Given the description of an element on the screen output the (x, y) to click on. 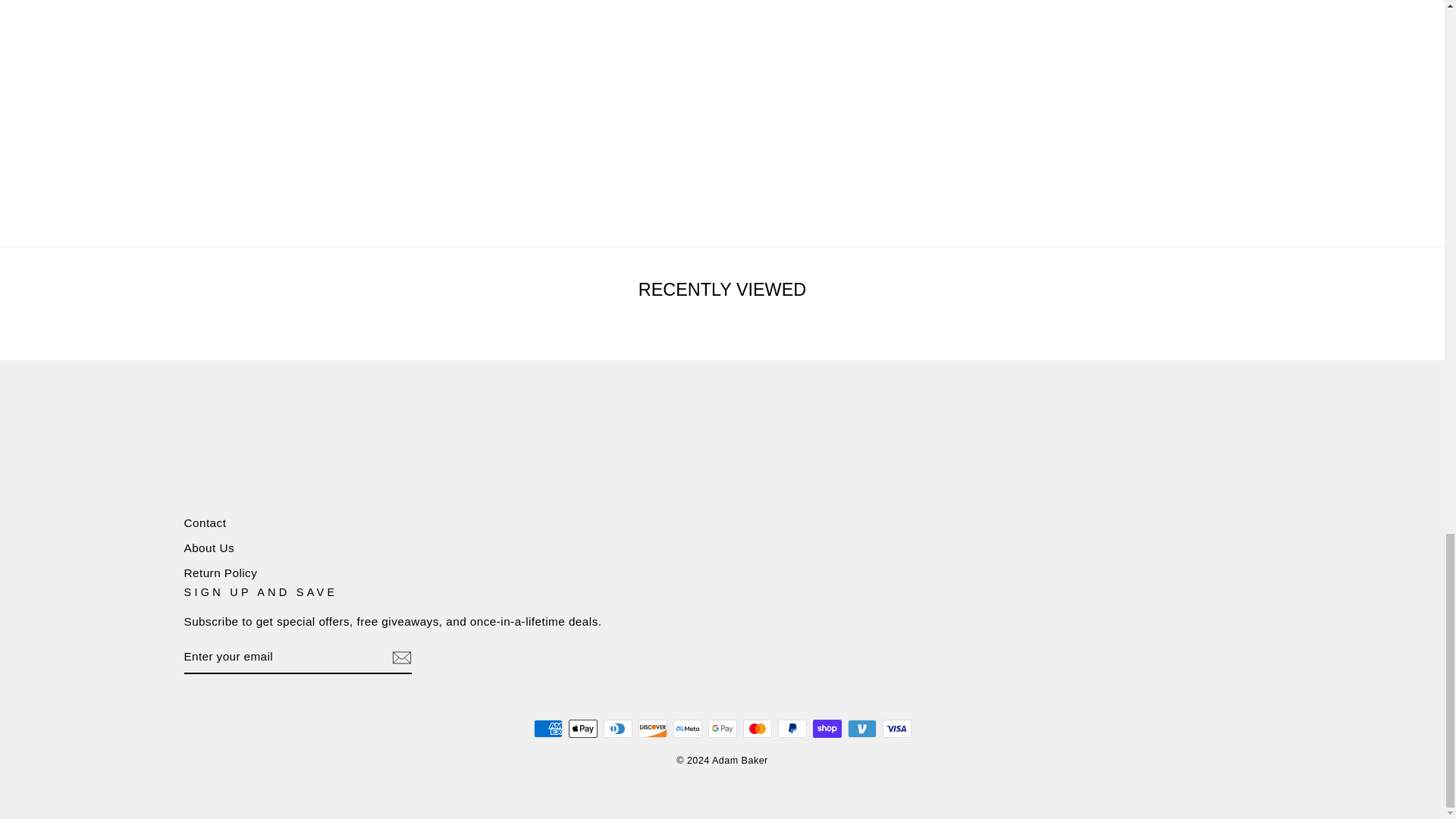
Google Pay (721, 728)
Discover (652, 728)
Diners Club (617, 728)
PayPal (791, 728)
Meta Pay (686, 728)
American Express (548, 728)
icon-email (400, 657)
Mastercard (756, 728)
Apple Pay (582, 728)
